Given the description of an element on the screen output the (x, y) to click on. 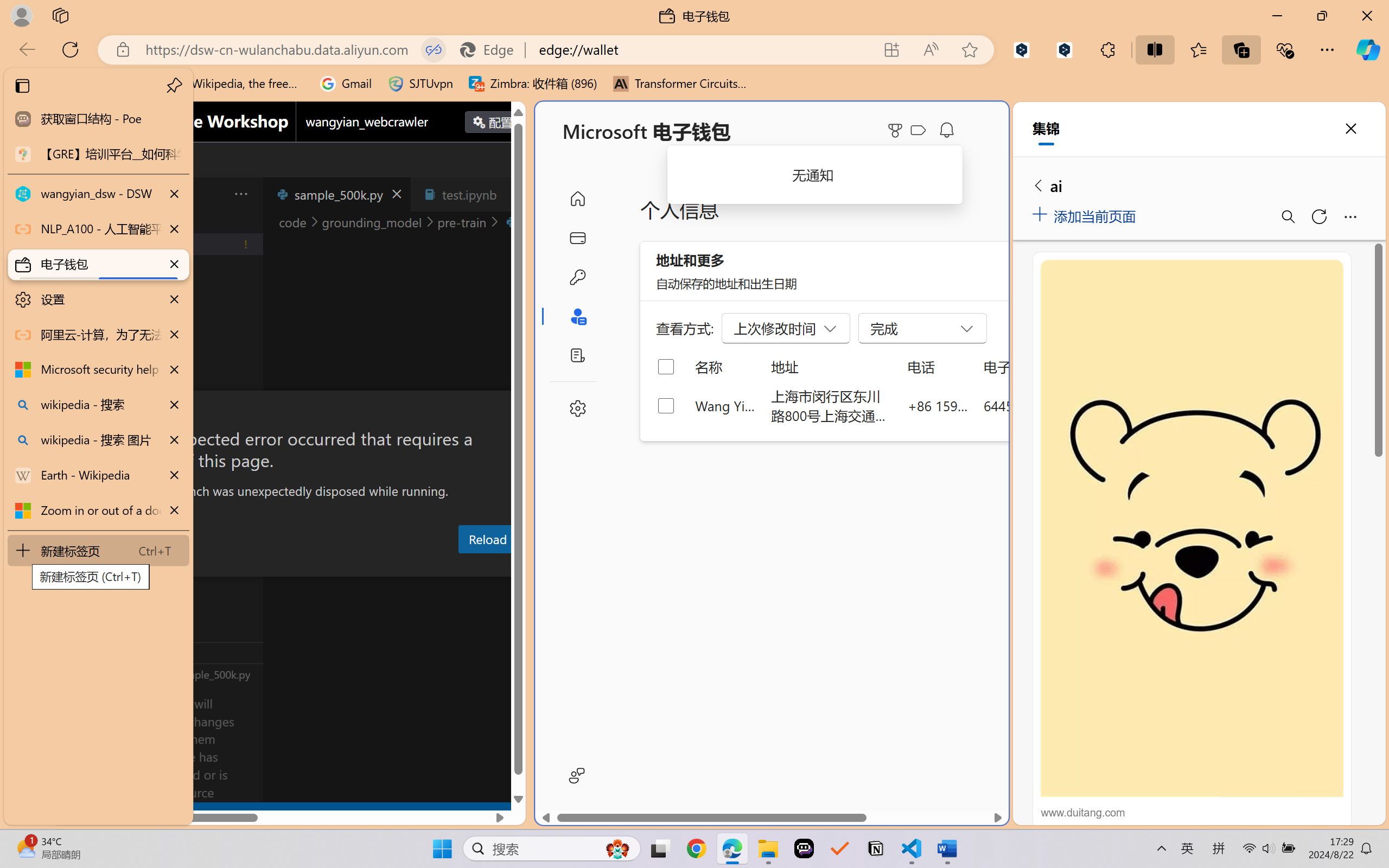
Outline Section (179, 652)
Wang Yian (725, 405)
Tab actions (512, 194)
